Given the description of an element on the screen output the (x, y) to click on. 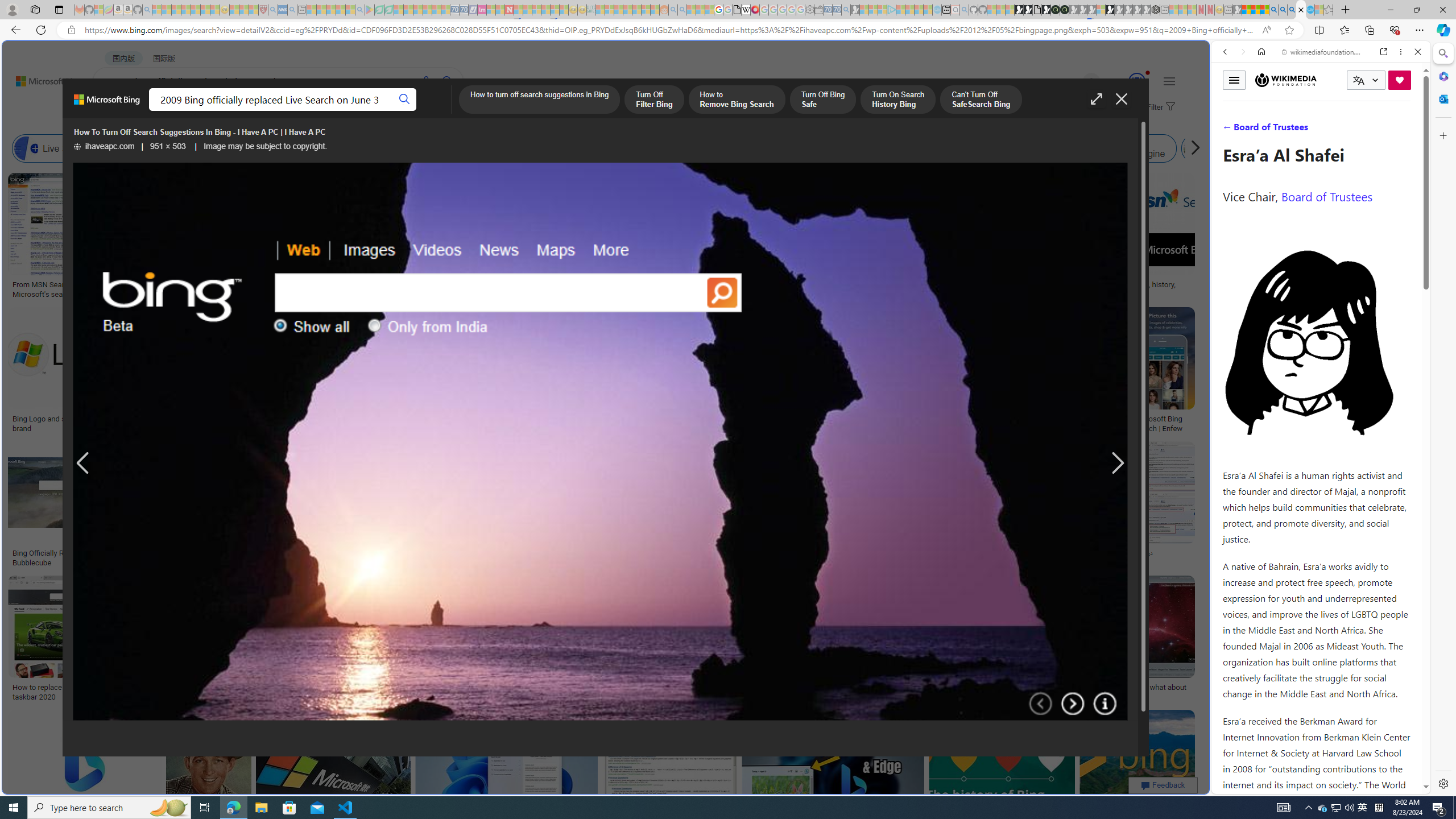
Bing - SEOLendSave (280, 505)
